Given the description of an element on the screen output the (x, y) to click on. 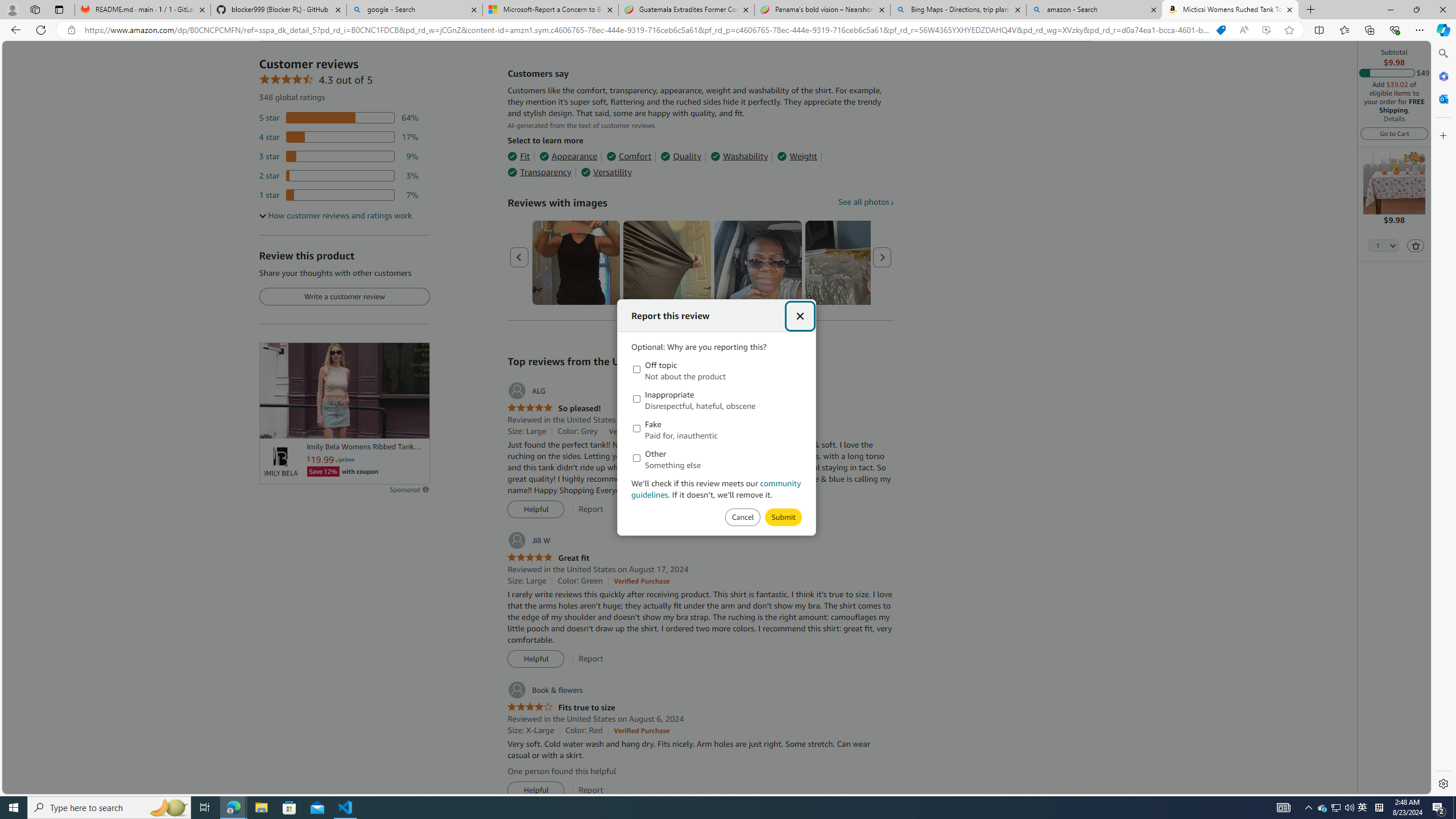
Enhance video (1266, 29)
Pause (273, 424)
Write a customer review (344, 296)
Next page (882, 256)
9 percent of reviews have 3 stars (339, 156)
How customer reviews and ratings work (335, 215)
amazon - Search (1094, 9)
